Given the description of an element on the screen output the (x, y) to click on. 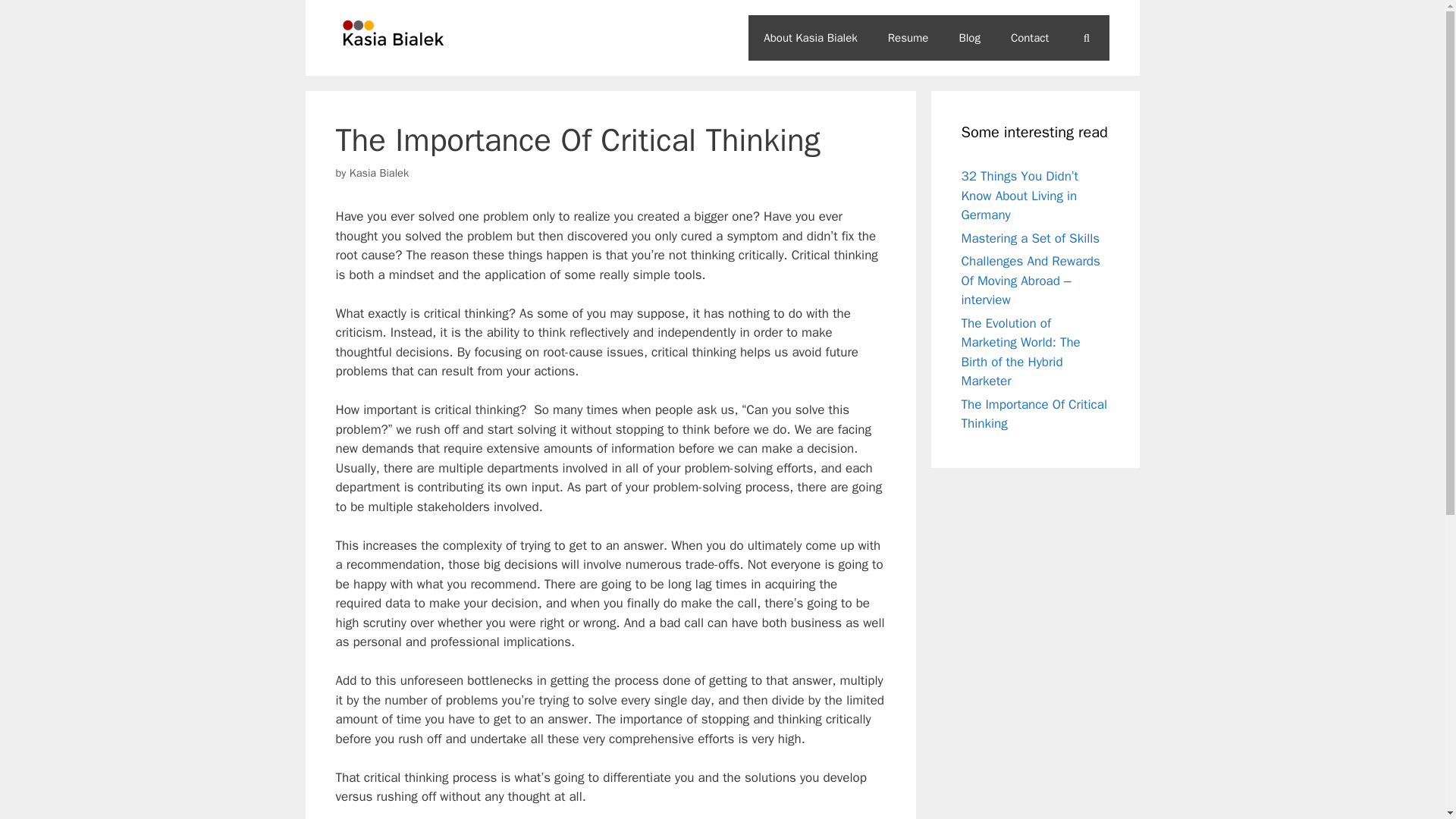
Kasia Bialek (379, 172)
View all posts by Kasia Bialek (379, 172)
About Kasia Bialek (810, 37)
Contact (1029, 37)
Mastering a Set of Skills (1030, 238)
The Importance Of Critical Thinking (1034, 413)
Resume (907, 37)
Blog (968, 37)
